Given the description of an element on the screen output the (x, y) to click on. 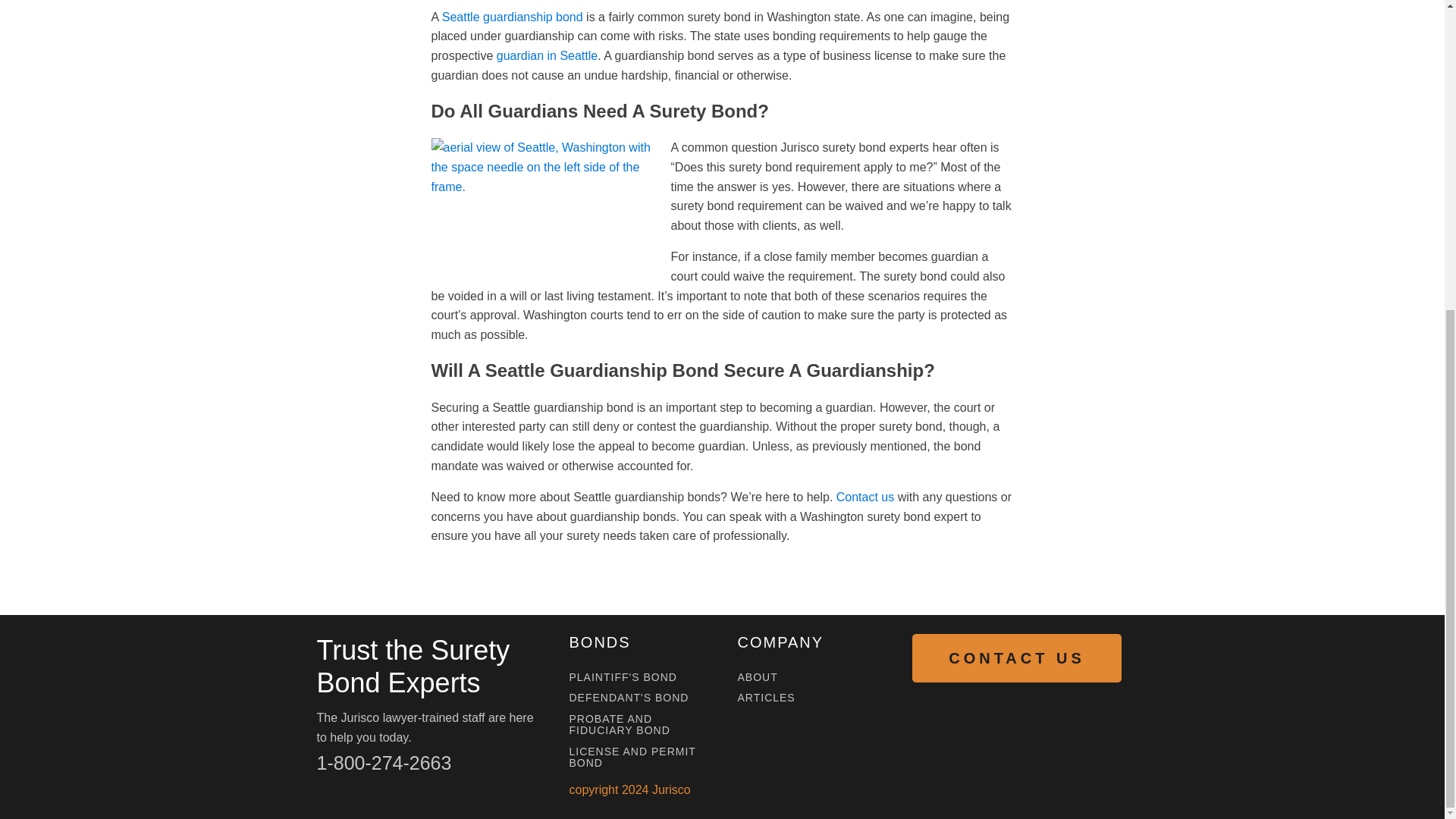
ABOUT (756, 677)
Contact us (864, 496)
CONTACT US (1016, 657)
PLAINTIFF'S BOND (623, 677)
PROBATE AND FIDUCIARY BOND (637, 725)
LICENSE AND PERMIT BOND (637, 757)
1-800-274-2663 (384, 762)
guardian in Seattle (546, 55)
ARTICLES (765, 697)
DEFENDANT'S BOND (628, 697)
Seattle guardianship bond (512, 16)
